Given the description of an element on the screen output the (x, y) to click on. 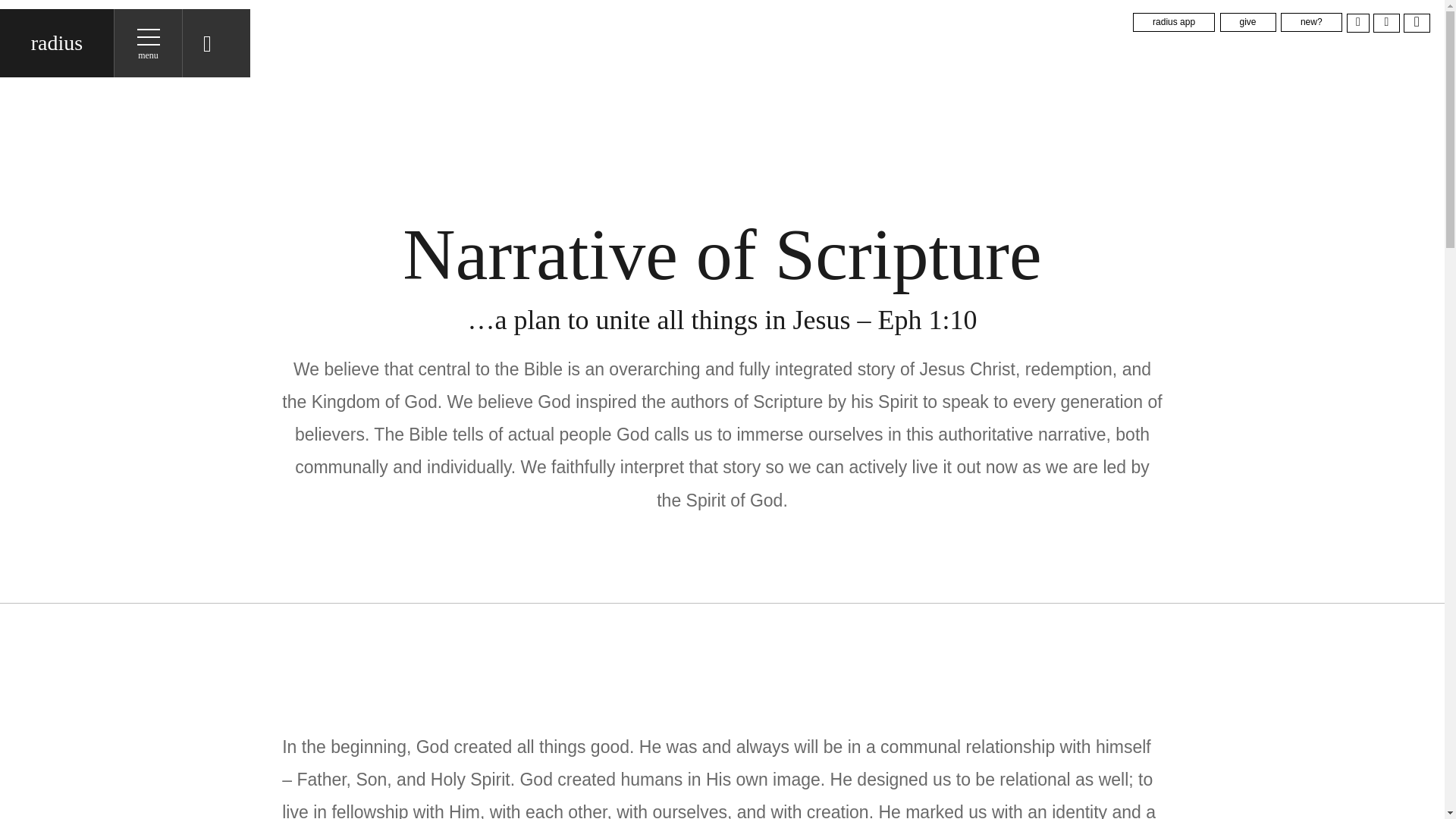
new? (1311, 22)
radius app (1173, 22)
Twitter (1416, 22)
give (1248, 22)
Instagram (1386, 22)
radius (56, 42)
Radius app (1173, 22)
Facebook (1358, 22)
